Given the description of an element on the screen output the (x, y) to click on. 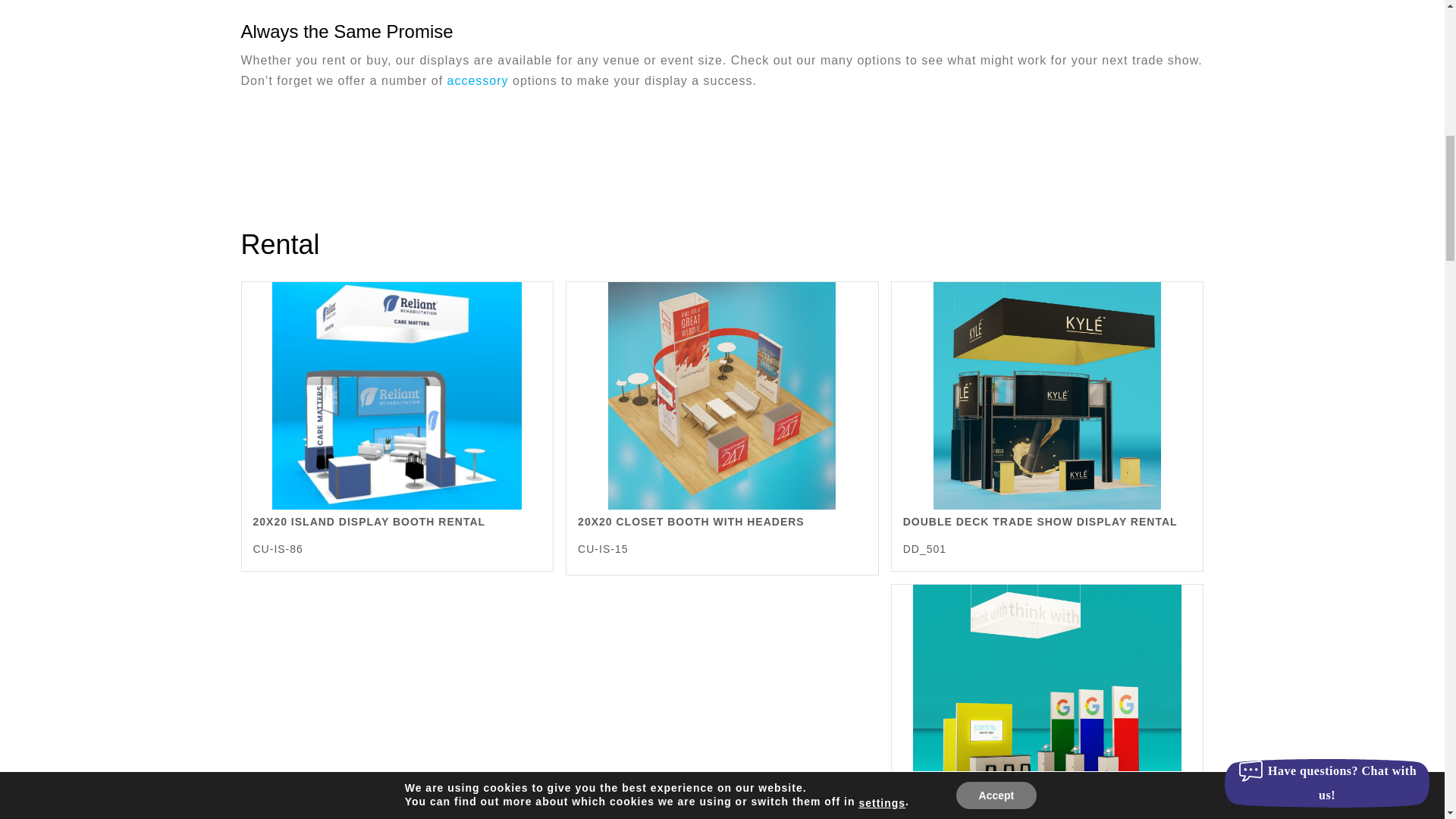
CU-IS-86 (396, 395)
CU-IS-15 (721, 395)
CU-IS-51 (1046, 698)
